Given the description of an element on the screen output the (x, y) to click on. 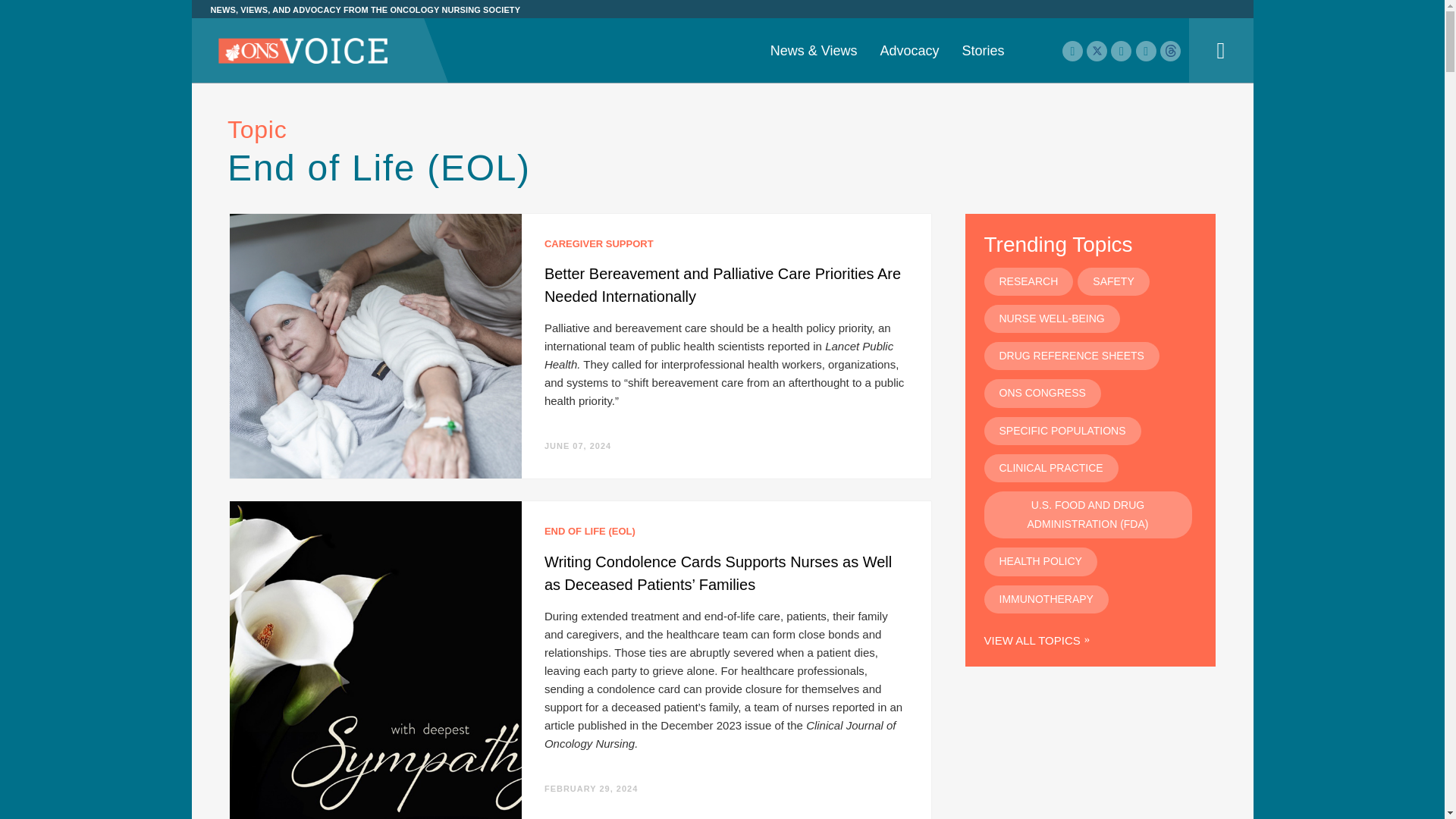
LATEST ARTICLES (466, 37)
Stories (982, 50)
Advocacy (908, 50)
Stories (982, 50)
JULY 04, 2024 (574, 30)
GET INVOLVED (721, 37)
Advocacy (908, 50)
Home (302, 51)
ONS CONGRESS (999, 2)
